Given the description of an element on the screen output the (x, y) to click on. 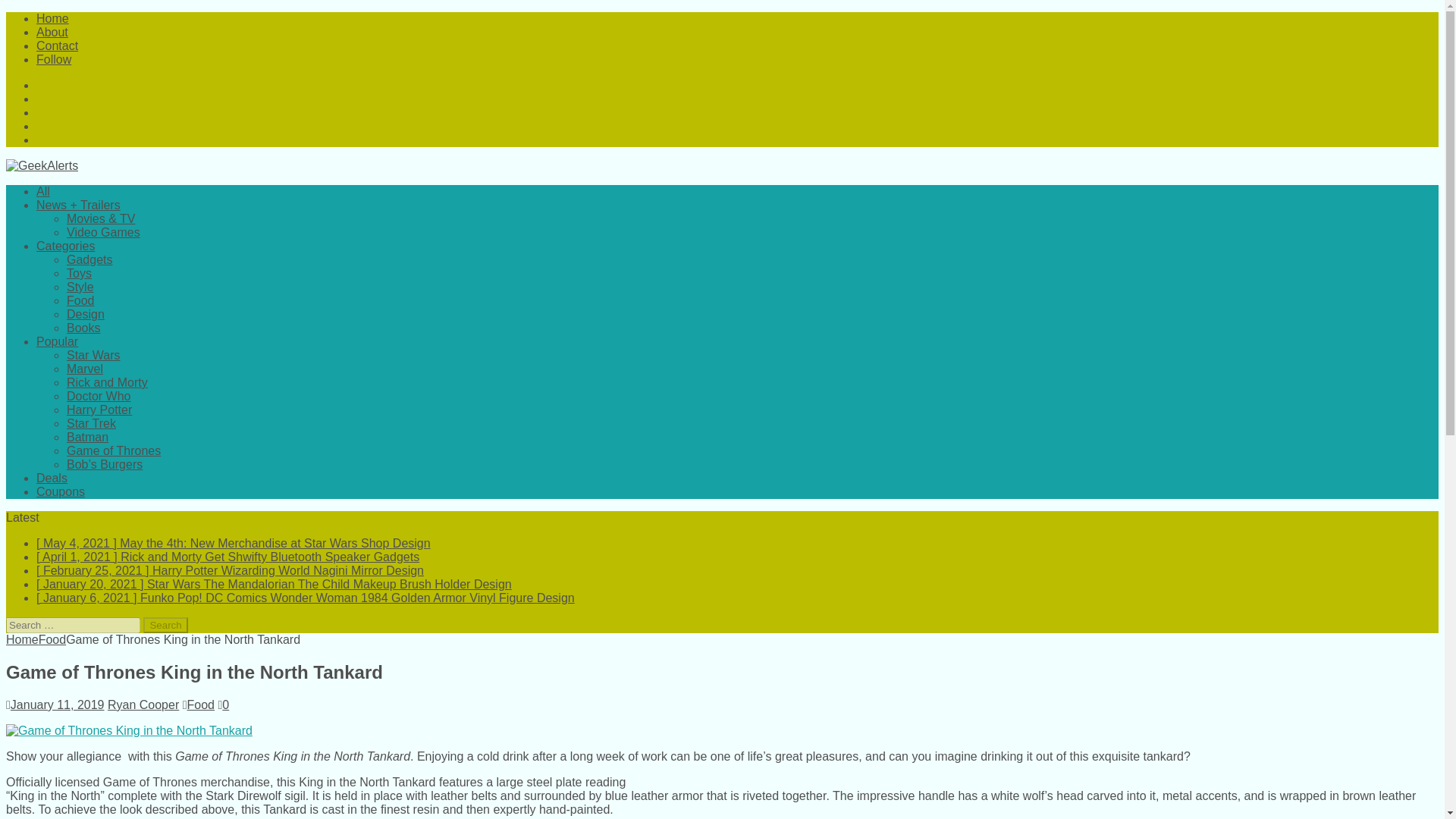
Categories (65, 245)
Harry Potter (99, 409)
Star Trek (91, 422)
Coupons (60, 491)
Rick and Morty (107, 382)
Search (164, 625)
About (52, 31)
Rick and Morty Get Shwifty Bluetooth Speaker (227, 556)
Gadgets (89, 259)
Follow (53, 59)
Batman (86, 436)
Marvel (84, 368)
Toys (78, 273)
Search (164, 625)
